Given the description of an element on the screen output the (x, y) to click on. 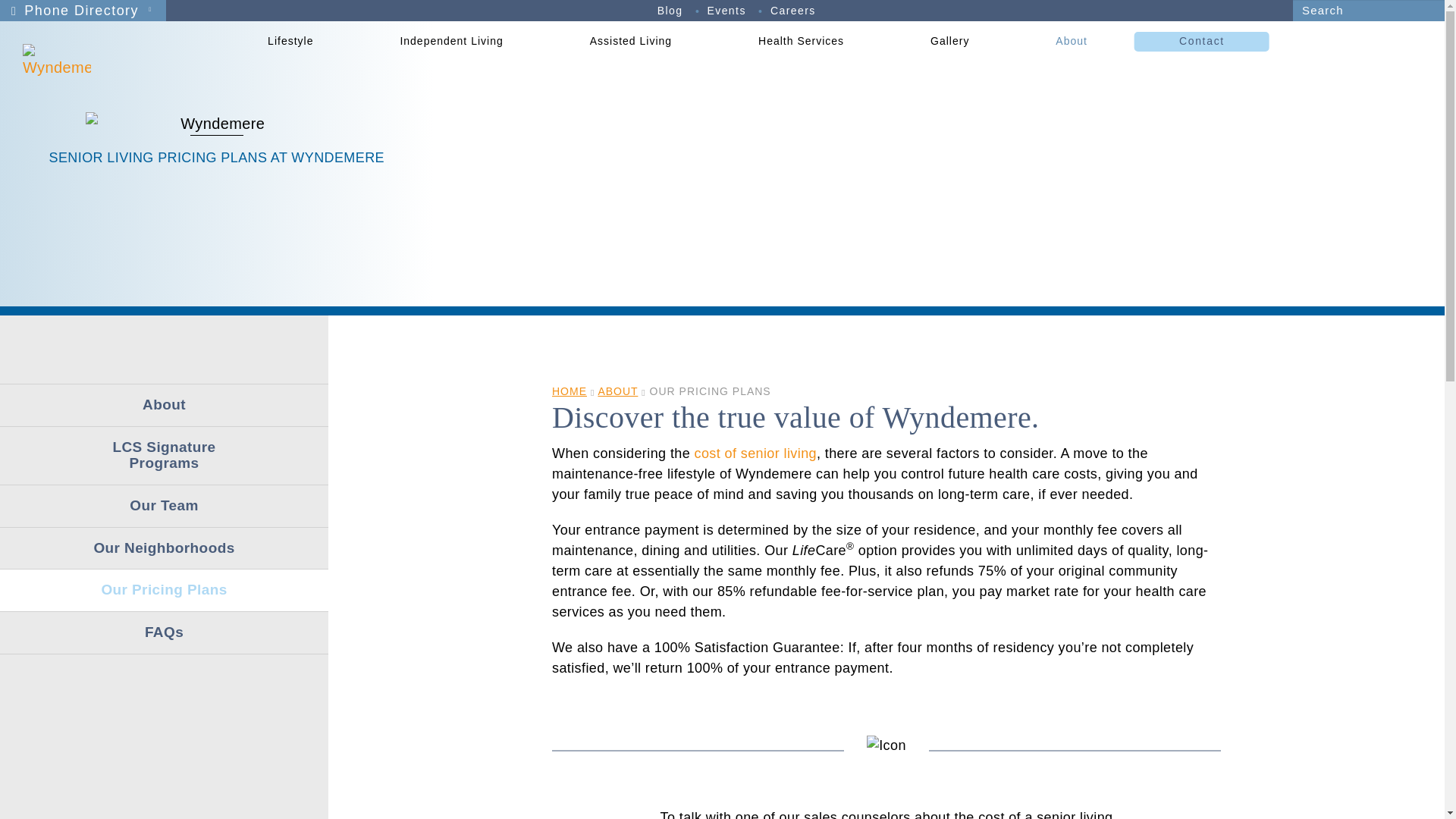
About (1075, 40)
ABOUT (616, 390)
Assisted Living (634, 40)
Contact (1201, 40)
Careers (792, 10)
cost of senior living (755, 453)
Wyndemere (106, 61)
Main Line1-630-690-6662 (113, 36)
Phone Directory (82, 11)
HOME (568, 390)
Health Services (805, 40)
Independent Living (454, 40)
Blog (670, 10)
Gallery (113, 43)
